Given the description of an element on the screen output the (x, y) to click on. 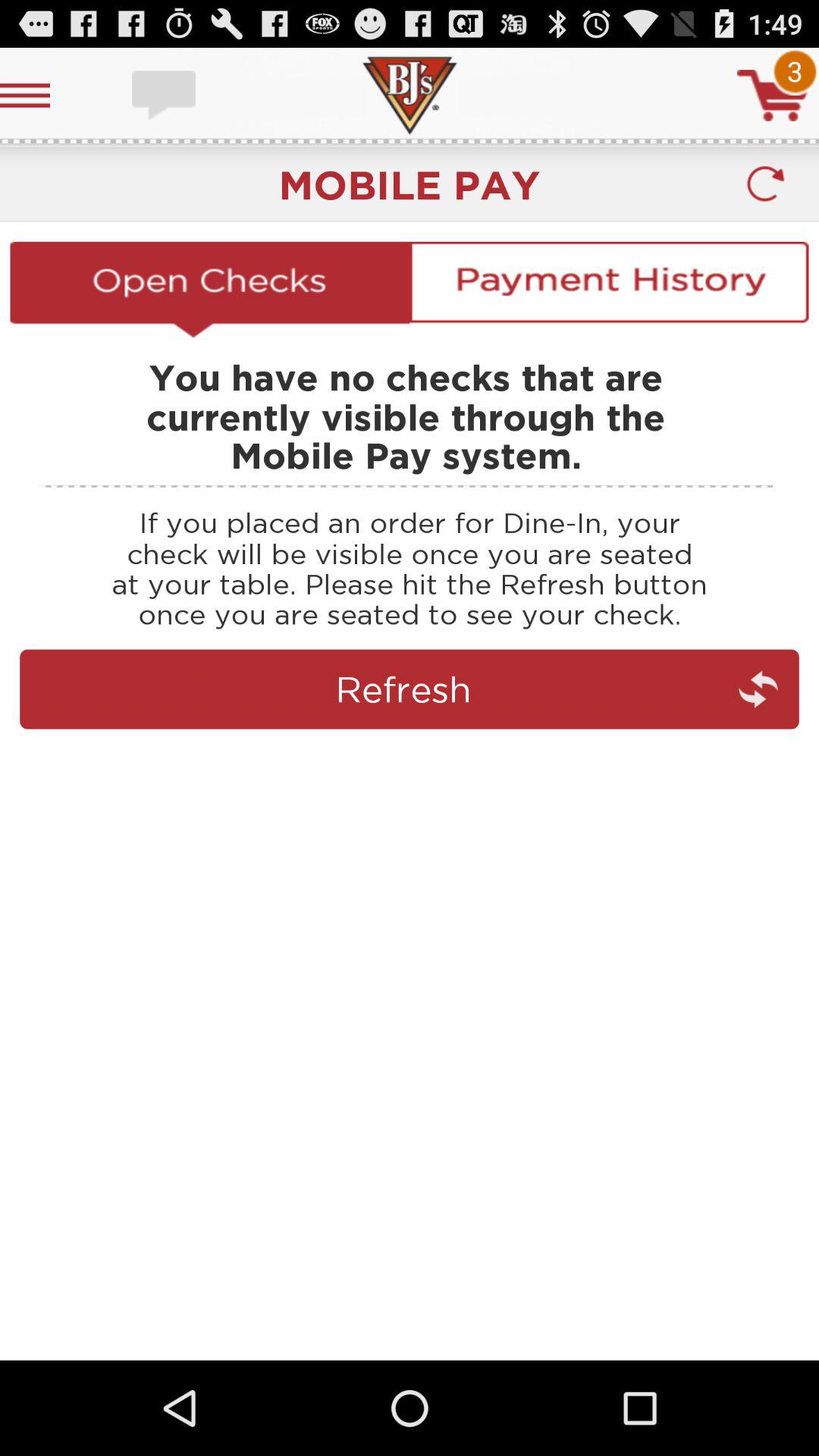
reloaded user (765, 184)
